Given the description of an element on the screen output the (x, y) to click on. 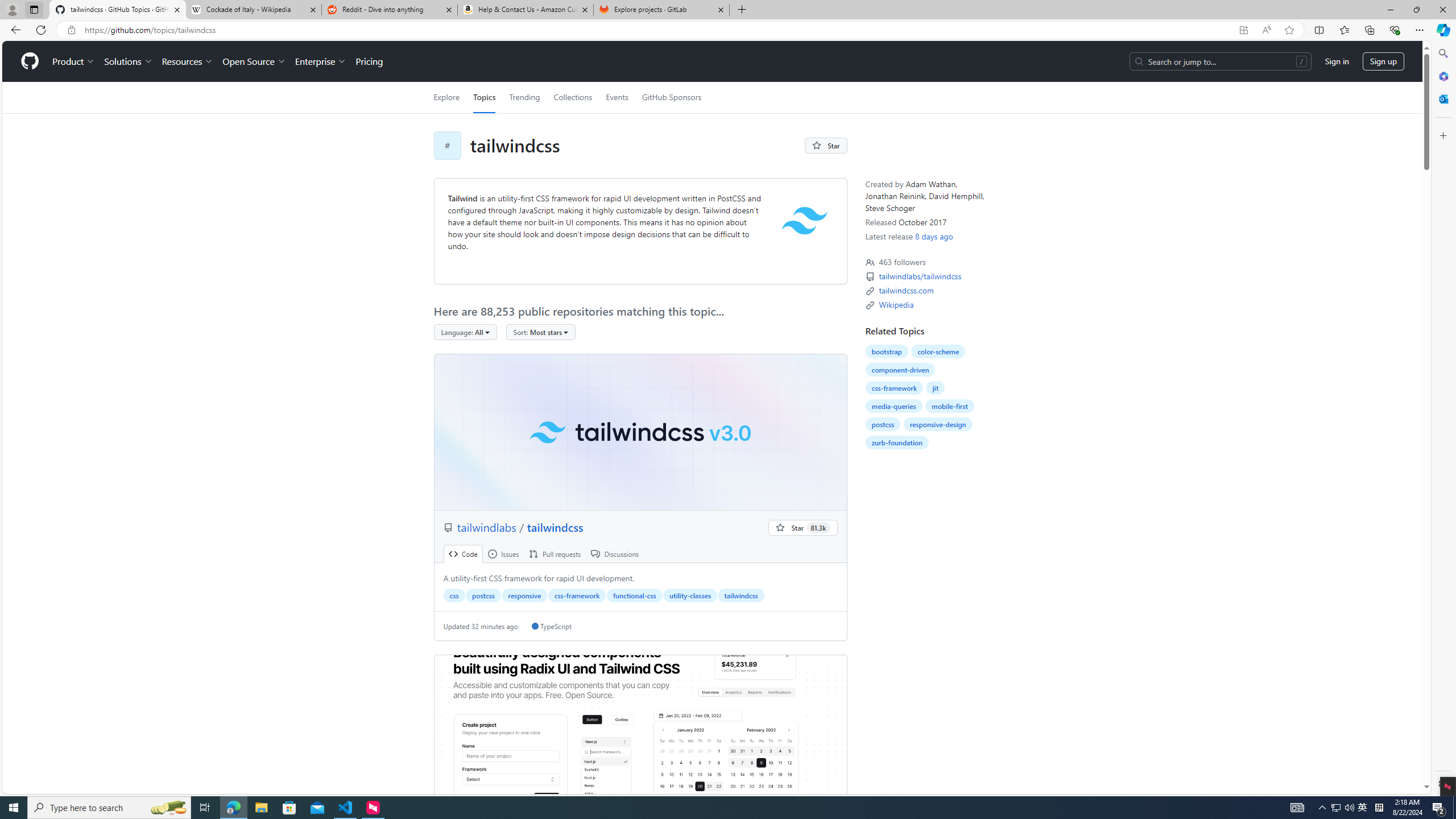
component-driven (900, 369)
functional-css (633, 594)
